Given the description of an element on the screen output the (x, y) to click on. 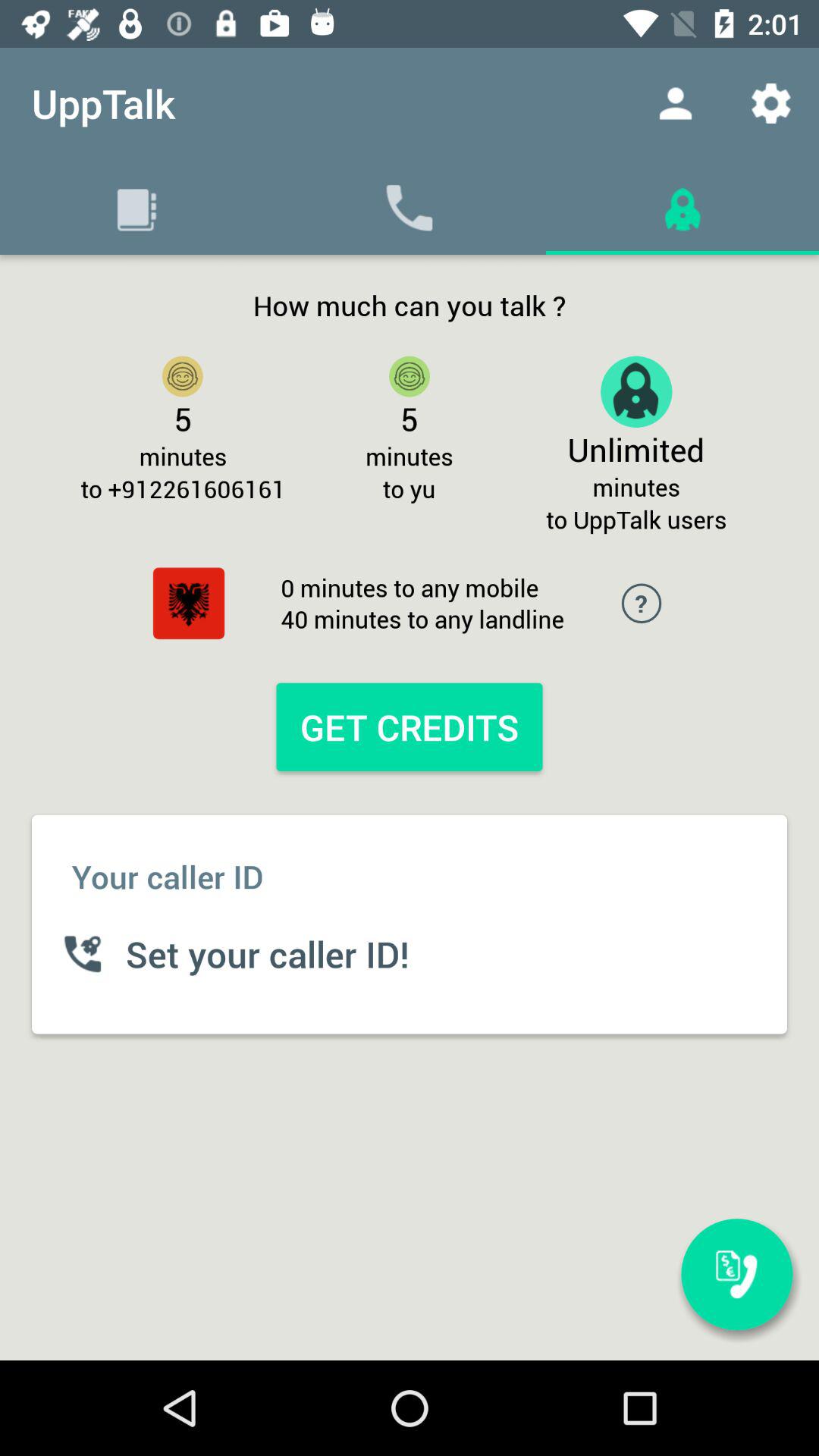
select item below to +912261606161 (188, 603)
